Given the description of an element on the screen output the (x, y) to click on. 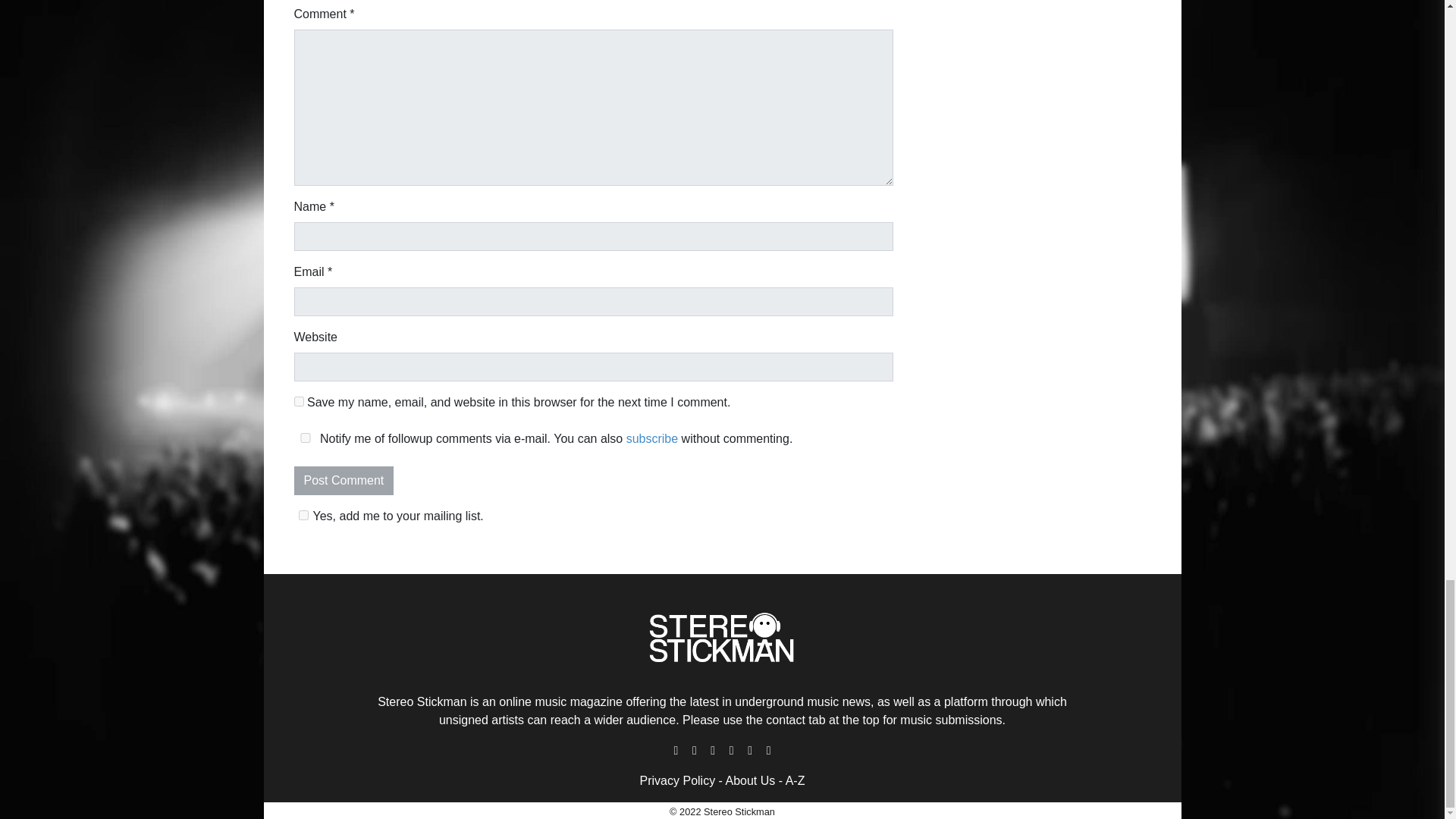
subscribe (652, 438)
Post Comment (344, 480)
Post Comment (344, 480)
yes (305, 438)
yes (299, 401)
1 (303, 515)
